Given the description of an element on the screen output the (x, y) to click on. 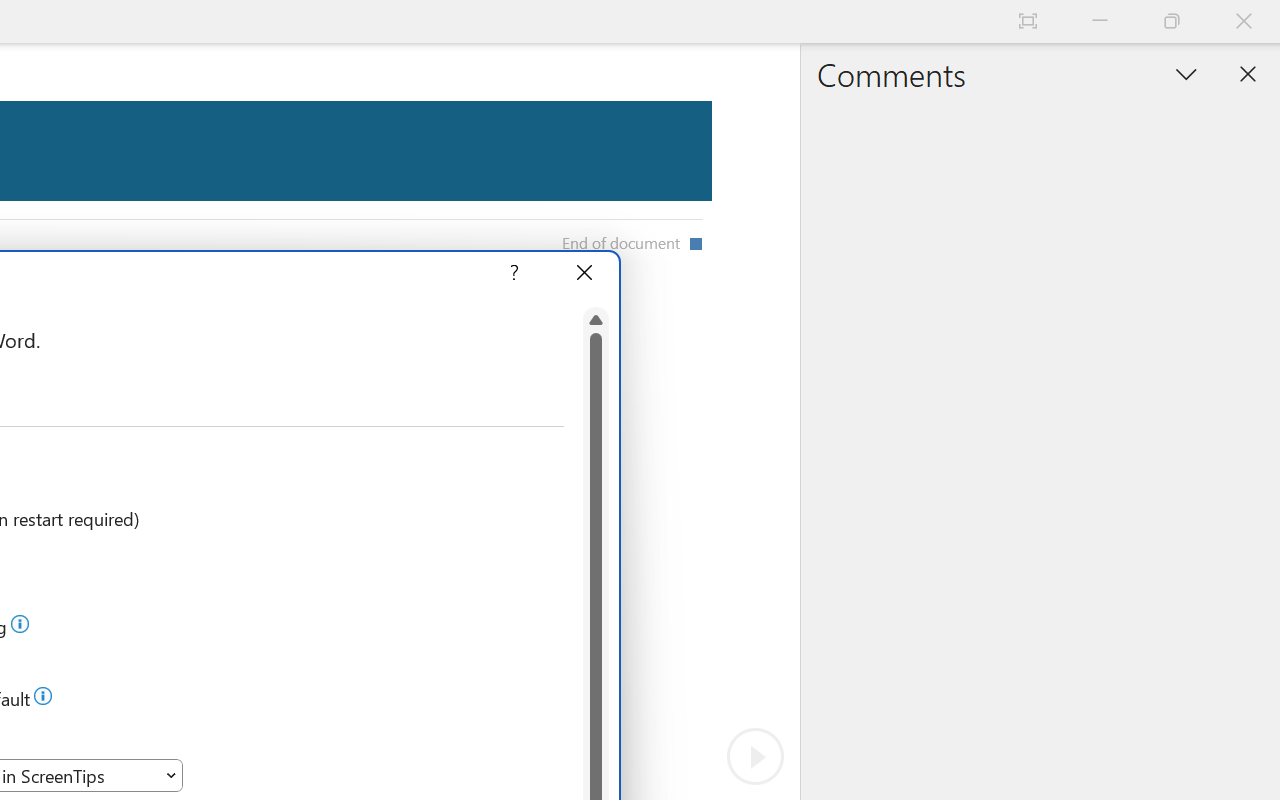
Line up (595, 319)
Auto-hide Reading Toolbar (1027, 21)
